Given the description of an element on the screen output the (x, y) to click on. 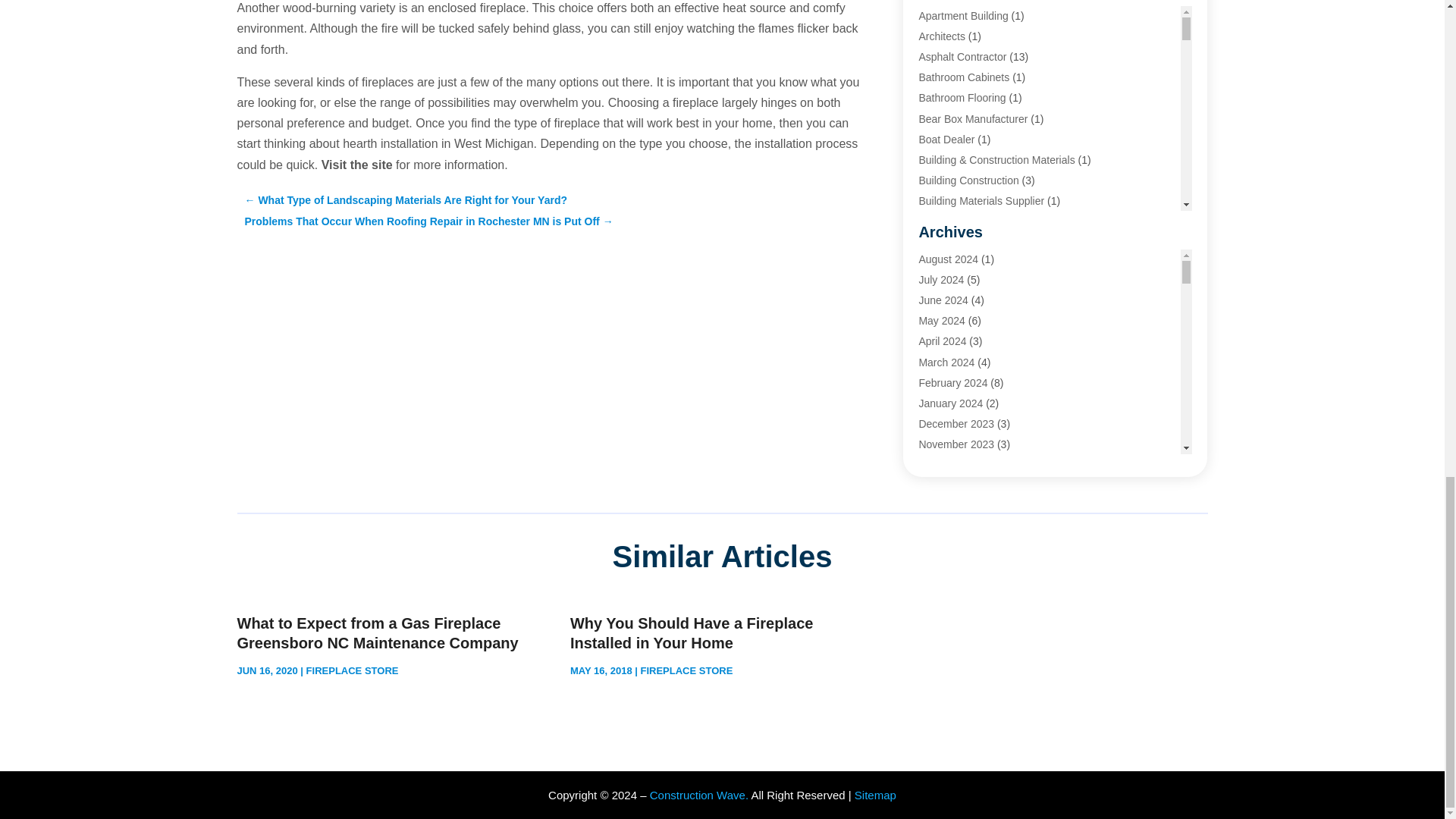
Bathroom Cabinets (963, 77)
Asphalt Contractor (962, 56)
Apartment Building (962, 15)
Boat Dealer (946, 139)
Building Materials Supplier (980, 200)
Bear Box Manufacturer (972, 119)
Building Construction (967, 180)
Bathroom Flooring (962, 97)
Cleaning (938, 263)
Concrete (939, 283)
Concrete Contractor (965, 304)
Cemetery (940, 222)
Architects (940, 36)
